Given the description of an element on the screen output the (x, y) to click on. 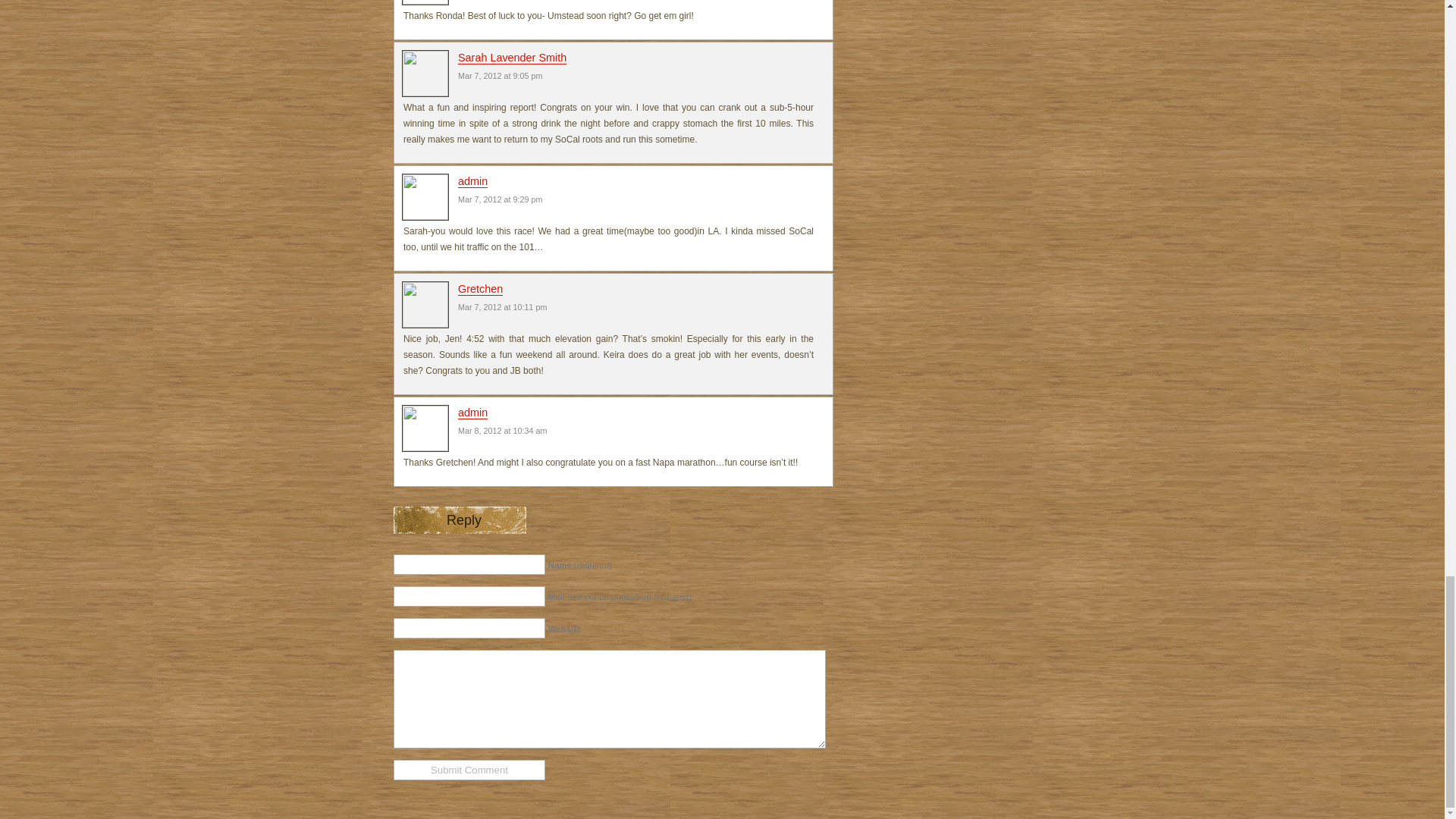
Sarah Lavender Smith (512, 57)
Gretchen (480, 288)
admin (472, 412)
admin (472, 181)
Submit Comment (468, 770)
Submit Comment (468, 770)
